Given the description of an element on the screen output the (x, y) to click on. 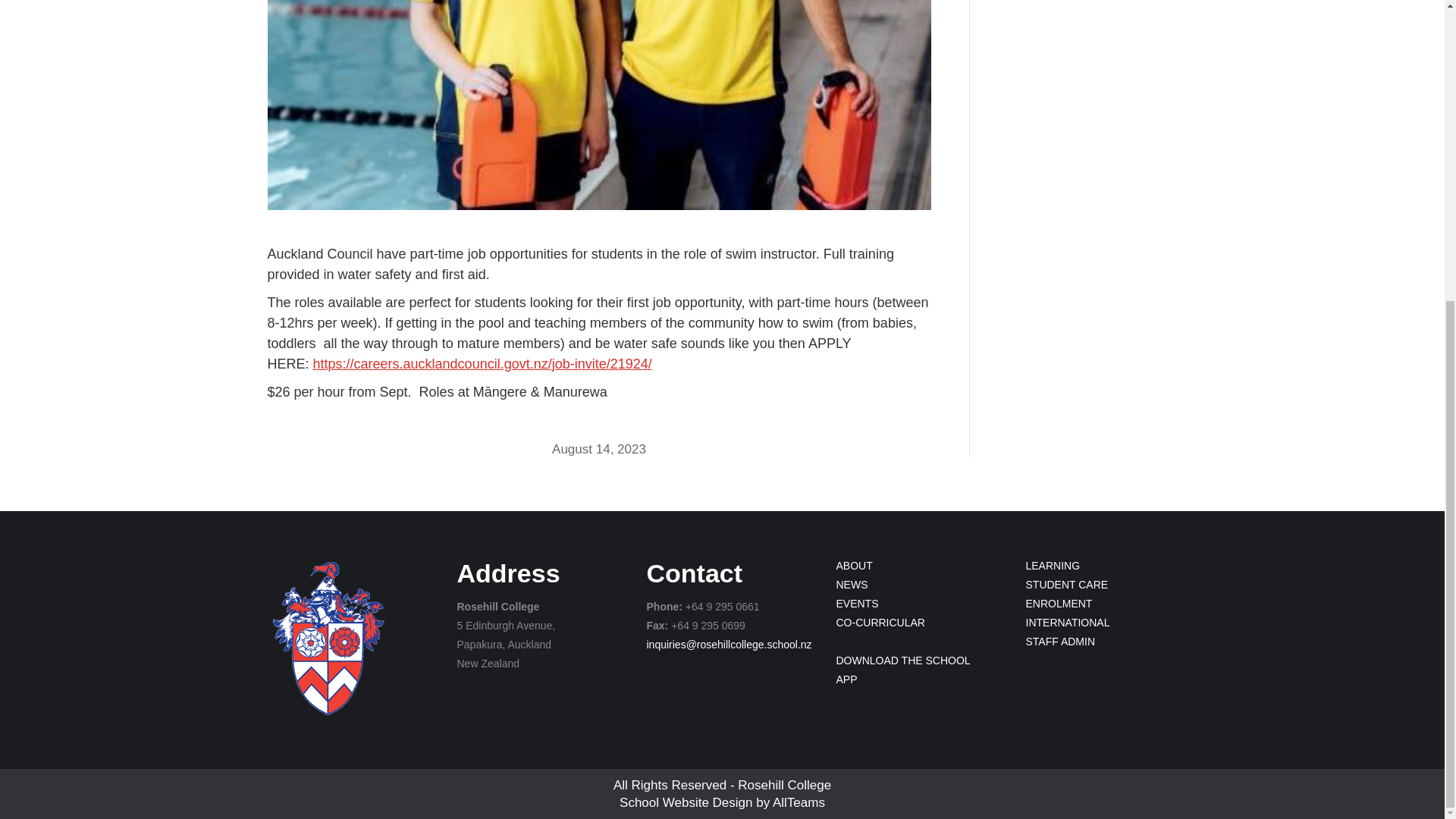
Auckland NZ Website Design, School Website Designers (686, 802)
Website Design, AllTeams (799, 802)
